Given the description of an element on the screen output the (x, y) to click on. 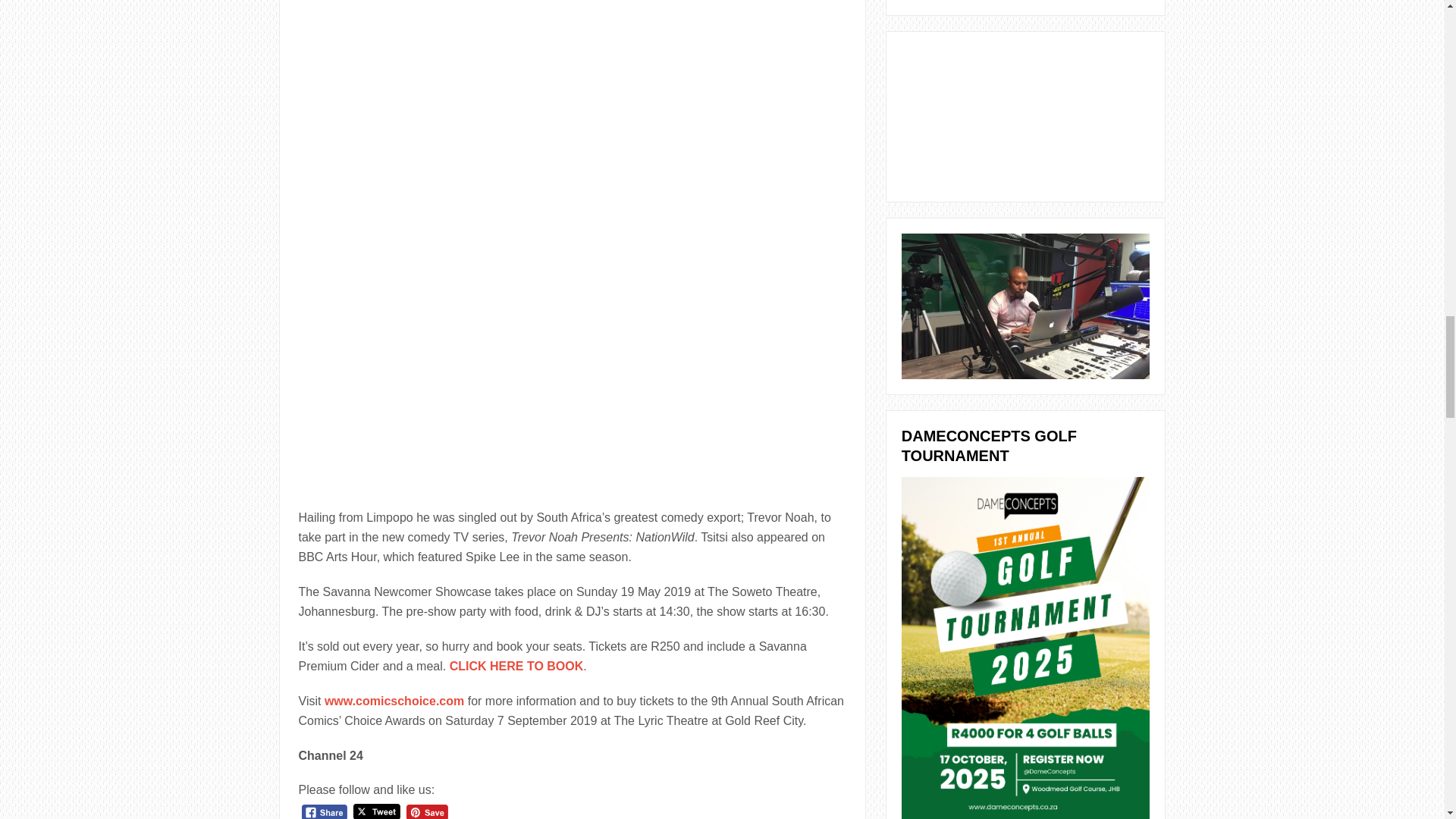
www.comicschoice.com (394, 700)
Tweet (376, 811)
CLICK HERE TO BOOK (516, 666)
Pin Share (427, 811)
Facebook Share (324, 811)
